Given the description of an element on the screen output the (x, y) to click on. 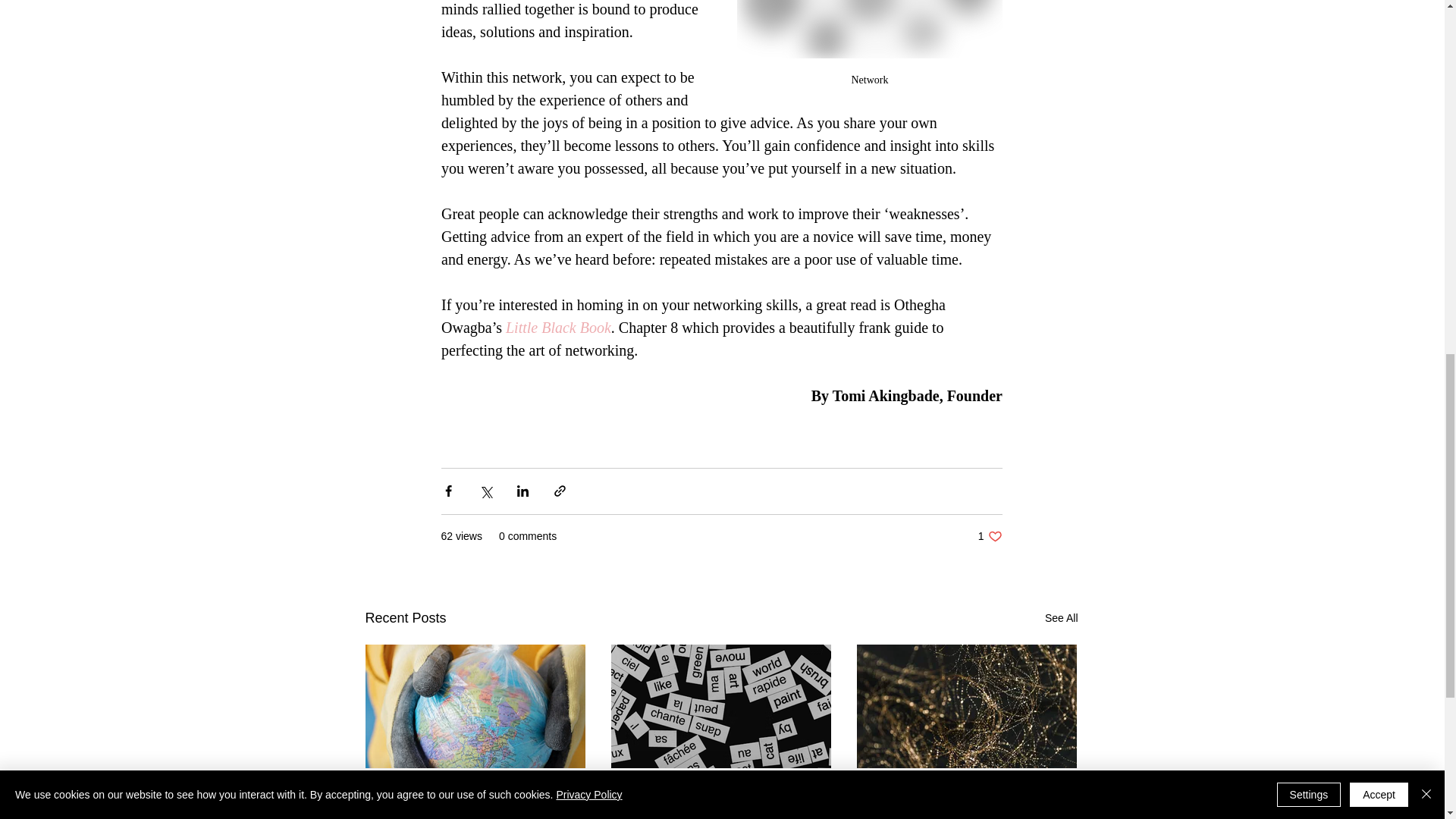
Little Black Book (557, 327)
See All (1061, 618)
Longing for Language (720, 794)
A Climate in Crisis (475, 794)
